Given the description of an element on the screen output the (x, y) to click on. 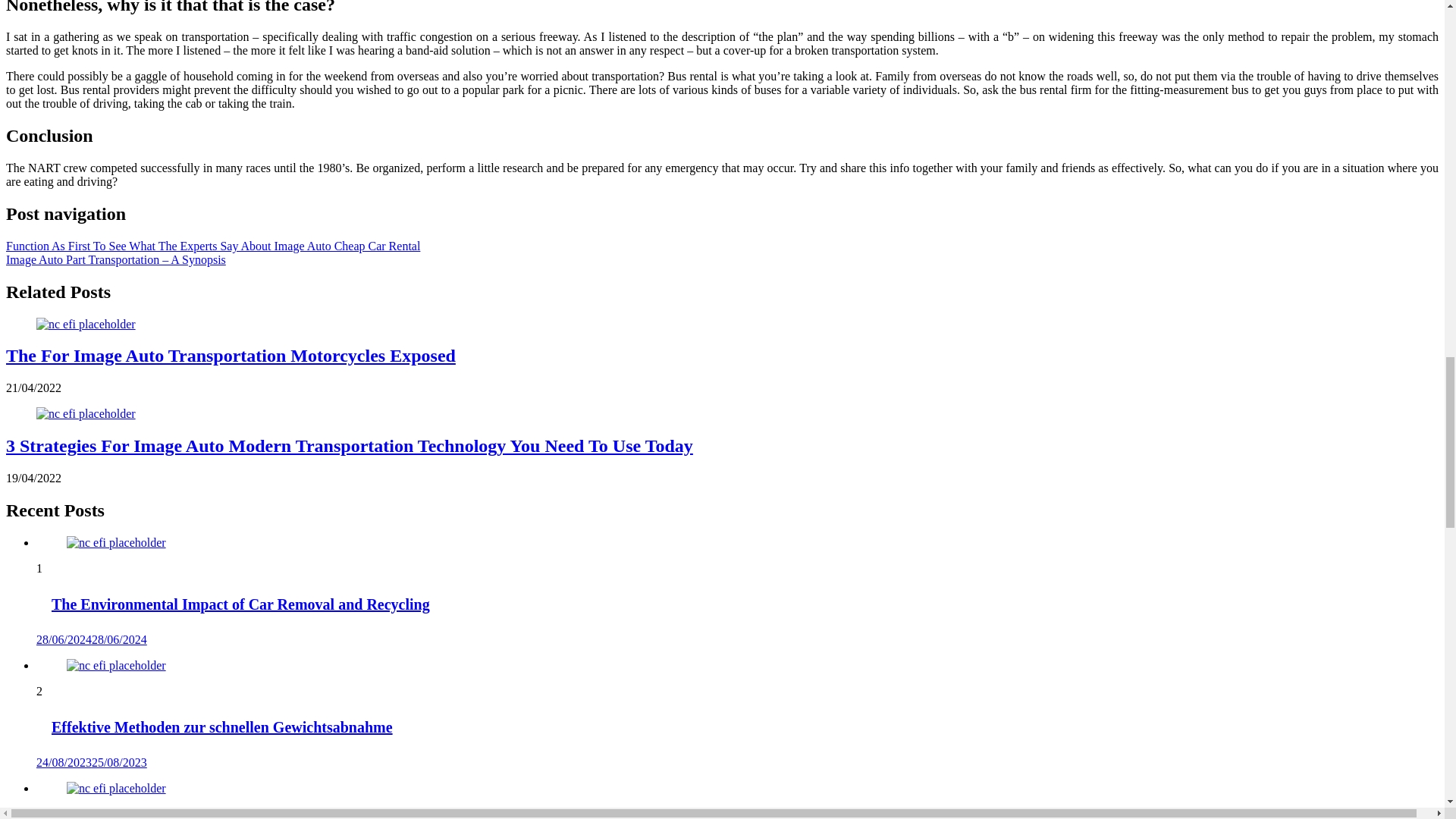
The For Image Auto Transportation Motorcycles Exposed (230, 355)
Effektive Methoden zur schnellen Gewichtsabnahme (115, 665)
The For Image Auto Transportation Motorcycles Exposed (85, 323)
The Environmental Impact of Car Removal and Recycling (115, 542)
